Given the description of an element on the screen output the (x, y) to click on. 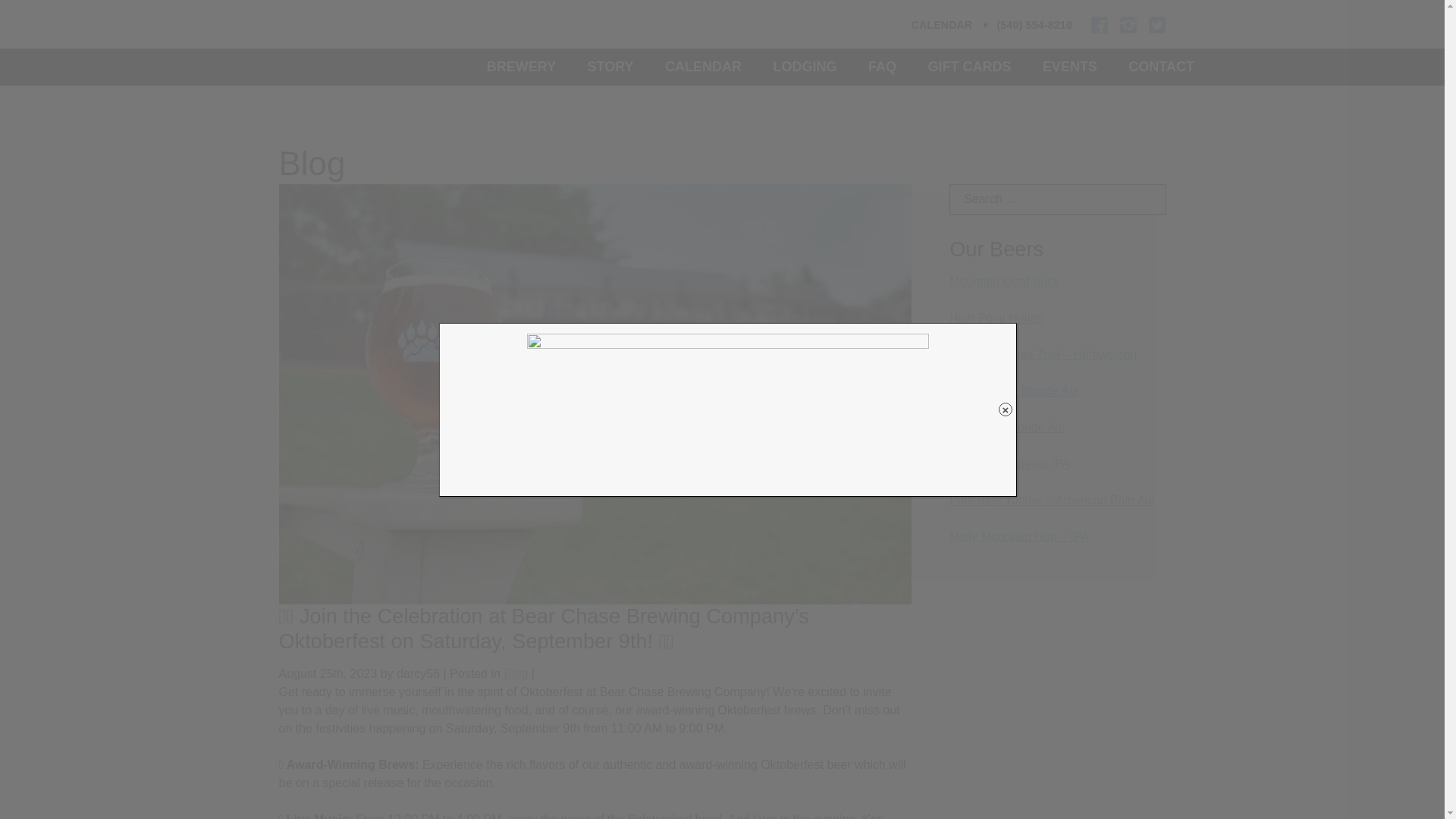
I am under 21 (833, 431)
I am 21 or older. (602, 431)
LODGING (804, 71)
BREWERY (521, 71)
EVENTS (1069, 71)
I am under 21 (833, 431)
STORY (610, 71)
I am 21 or older. (602, 431)
CONTACT (1160, 71)
CALENDAR (703, 71)
